Given the description of an element on the screen output the (x, y) to click on. 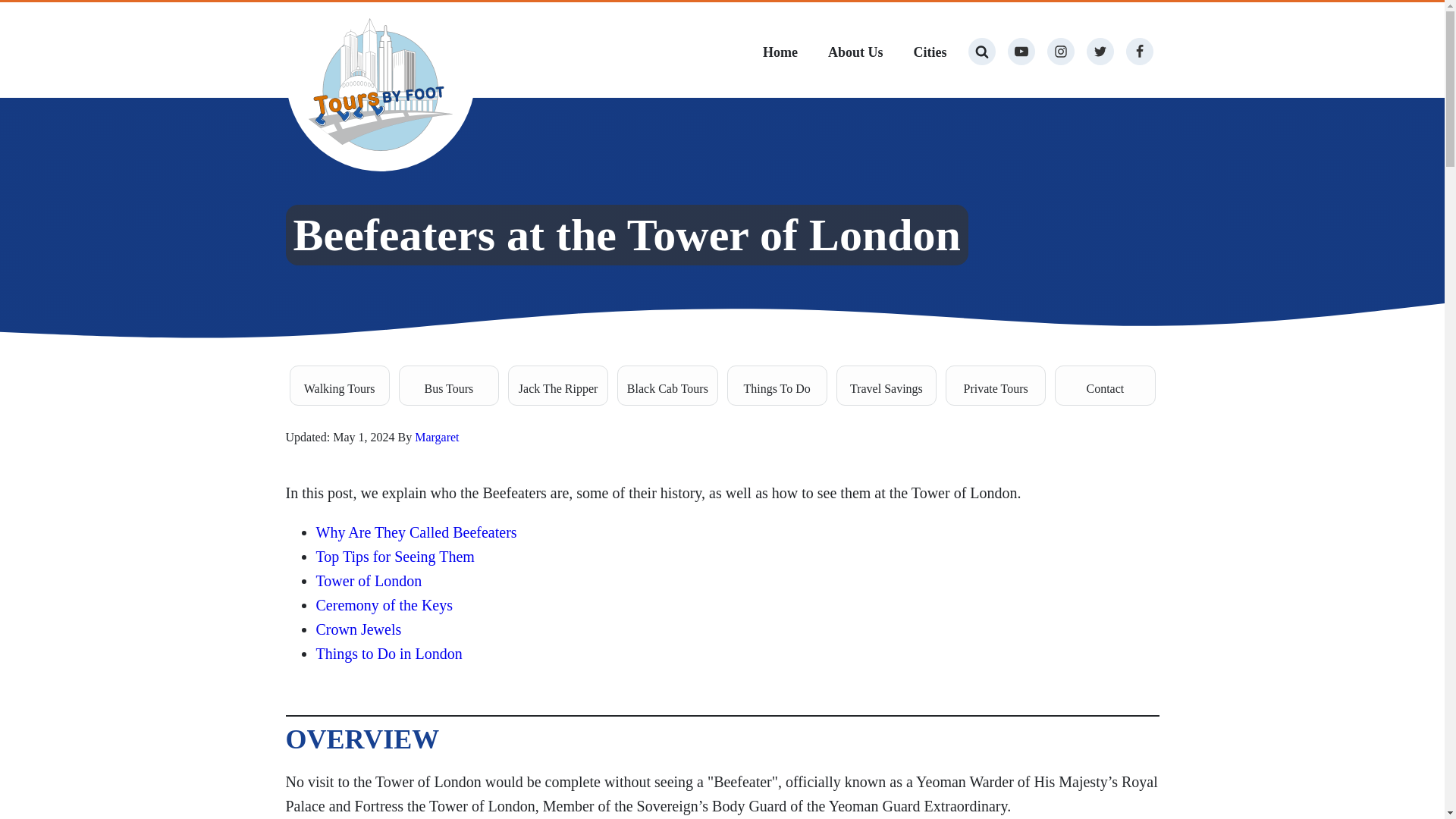
About Us (855, 54)
Walking Tours (339, 385)
Bus Tours (448, 385)
Things To Do (776, 385)
Jack The Ripper (558, 385)
Black Cab Tours (667, 385)
Search (26, 14)
